Given the description of an element on the screen output the (x, y) to click on. 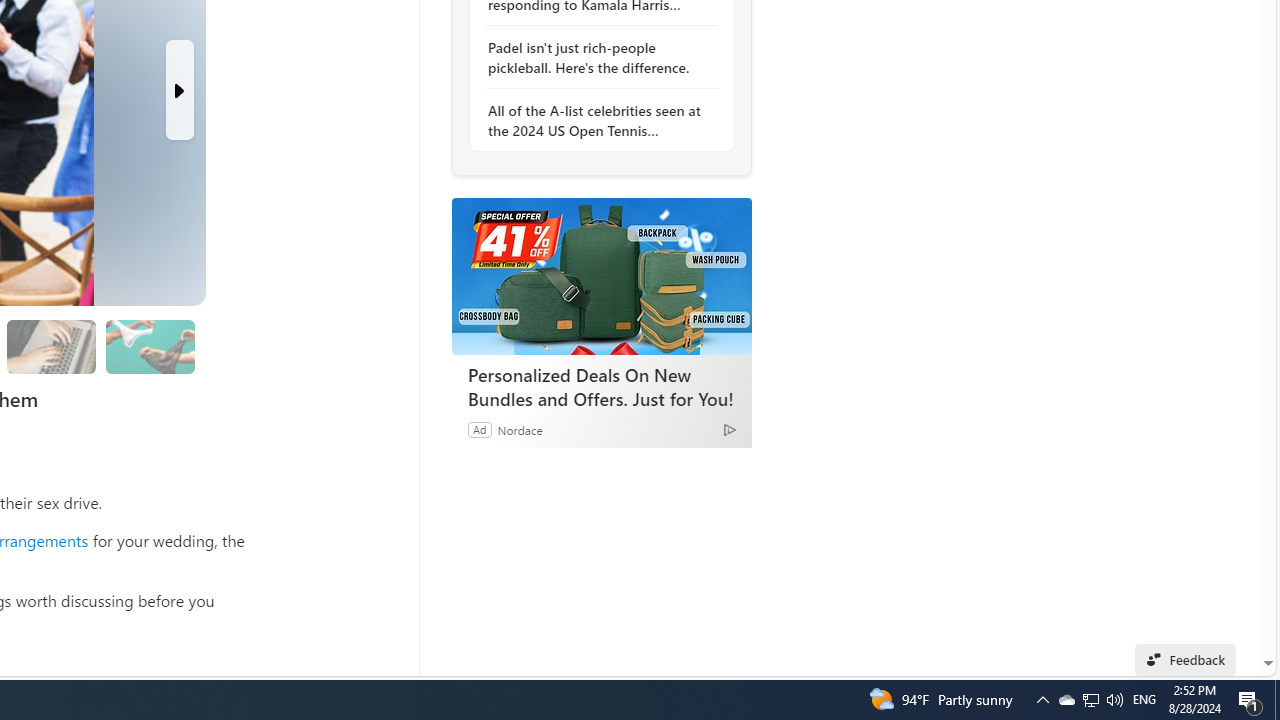
How important is sex to you? (149, 346)
How important is sex to you? (150, 346)
Personalized Deals On New Bundles and Offers. Just for You! (601, 386)
Personalized Deals On New Bundles and Offers. Just for You! (601, 276)
Class: progress (149, 343)
Ad (479, 429)
Feedback (1185, 659)
Next Slide (179, 89)
Nordace (519, 429)
Ad Choice (729, 429)
